Given the description of an element on the screen output the (x, y) to click on. 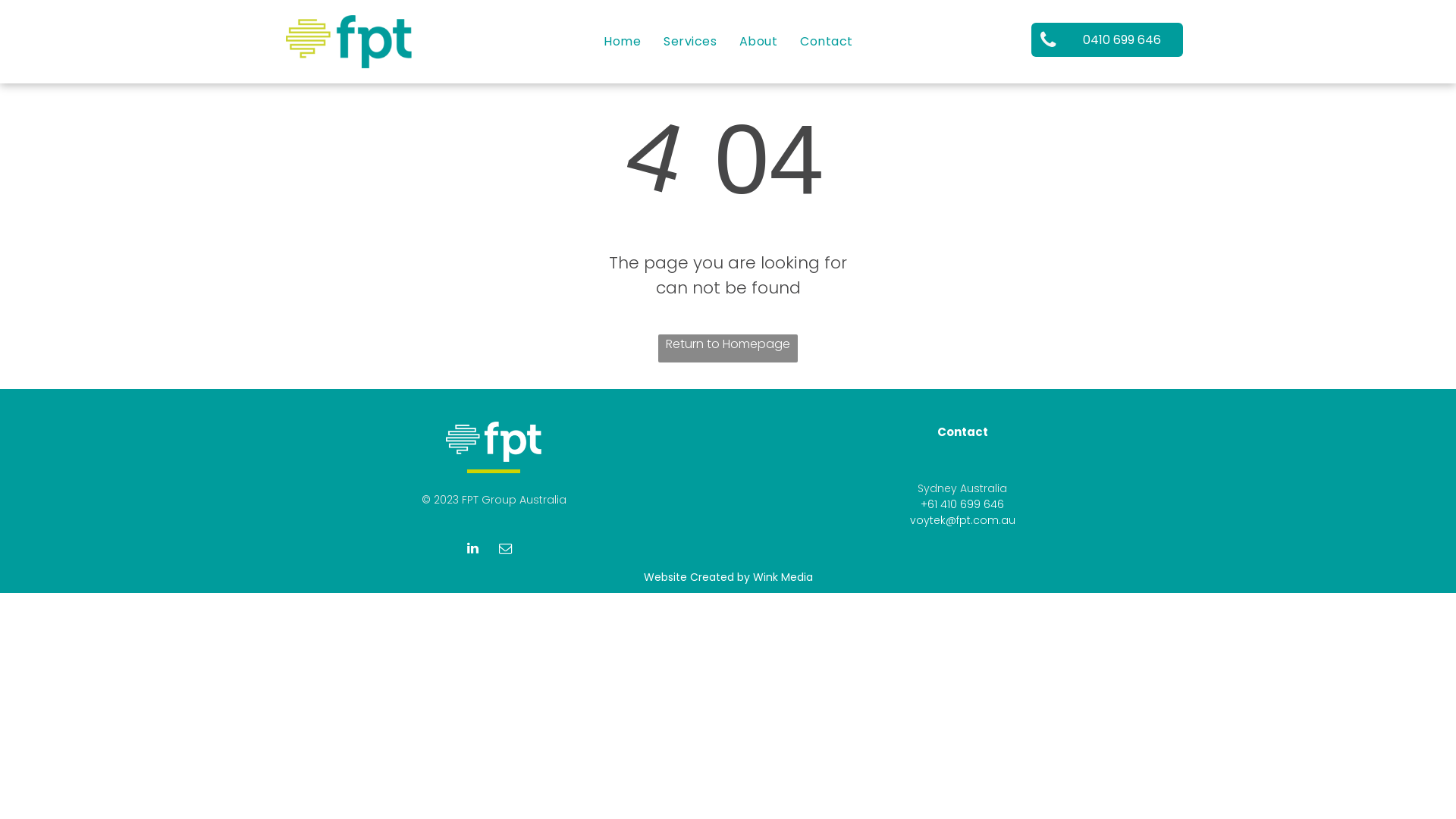
Home Element type: text (622, 40)
0410 699 646 Element type: text (1107, 39)
+61 410 699 646 Element type: text (962, 503)
Website Created by Wink Media Element type: text (727, 576)
Return to Homepage Element type: text (727, 348)
voytek@fpt.com.au Element type: text (962, 519)
Services Element type: text (690, 40)
Contact Element type: text (825, 40)
About Element type: text (758, 40)
